Given the description of an element on the screen output the (x, y) to click on. 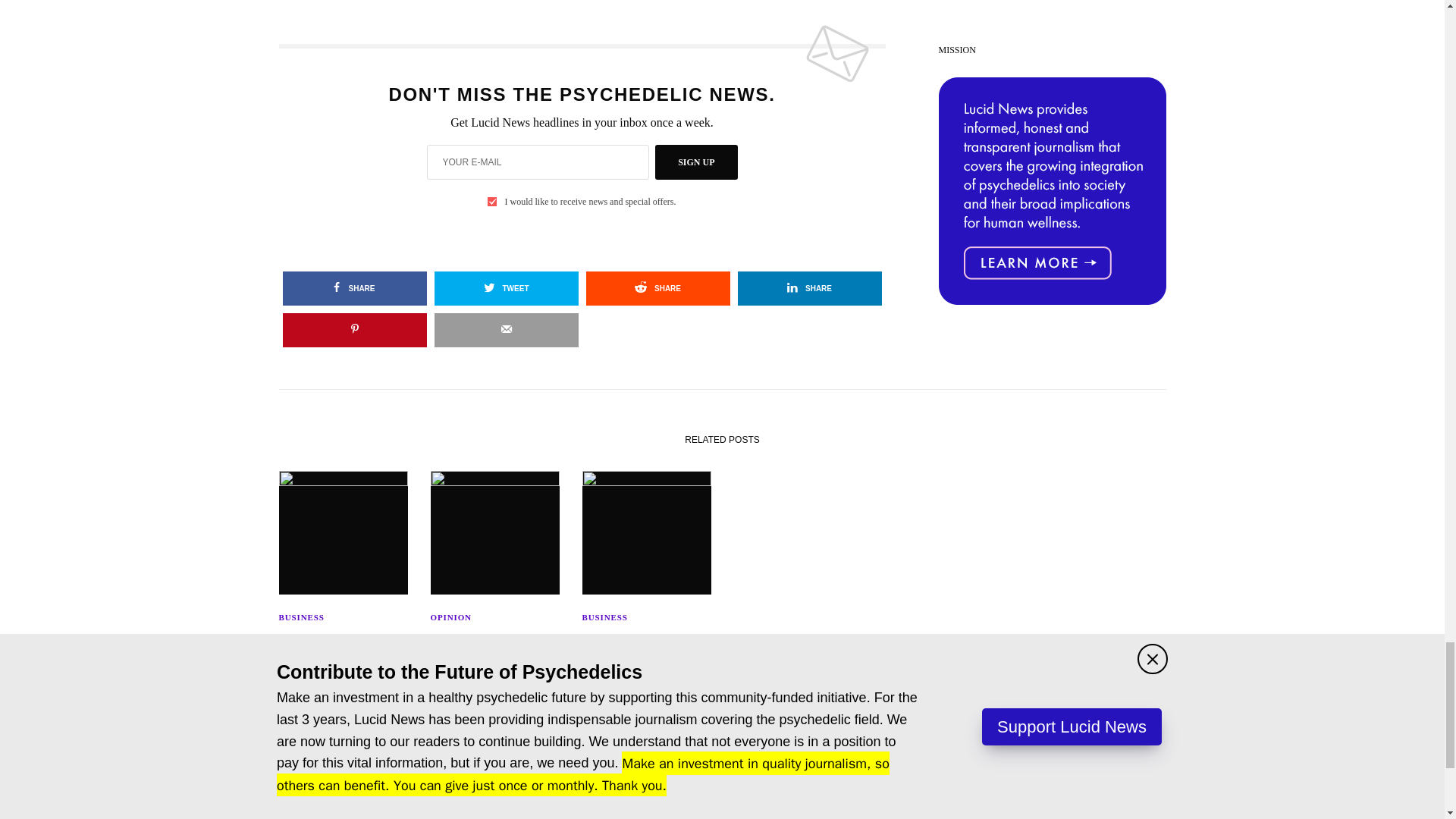
Lucid News (721, 801)
Regulatory Hurdles Challenge Oregon Psilocybin Providers (646, 655)
